Given the description of an element on the screen output the (x, y) to click on. 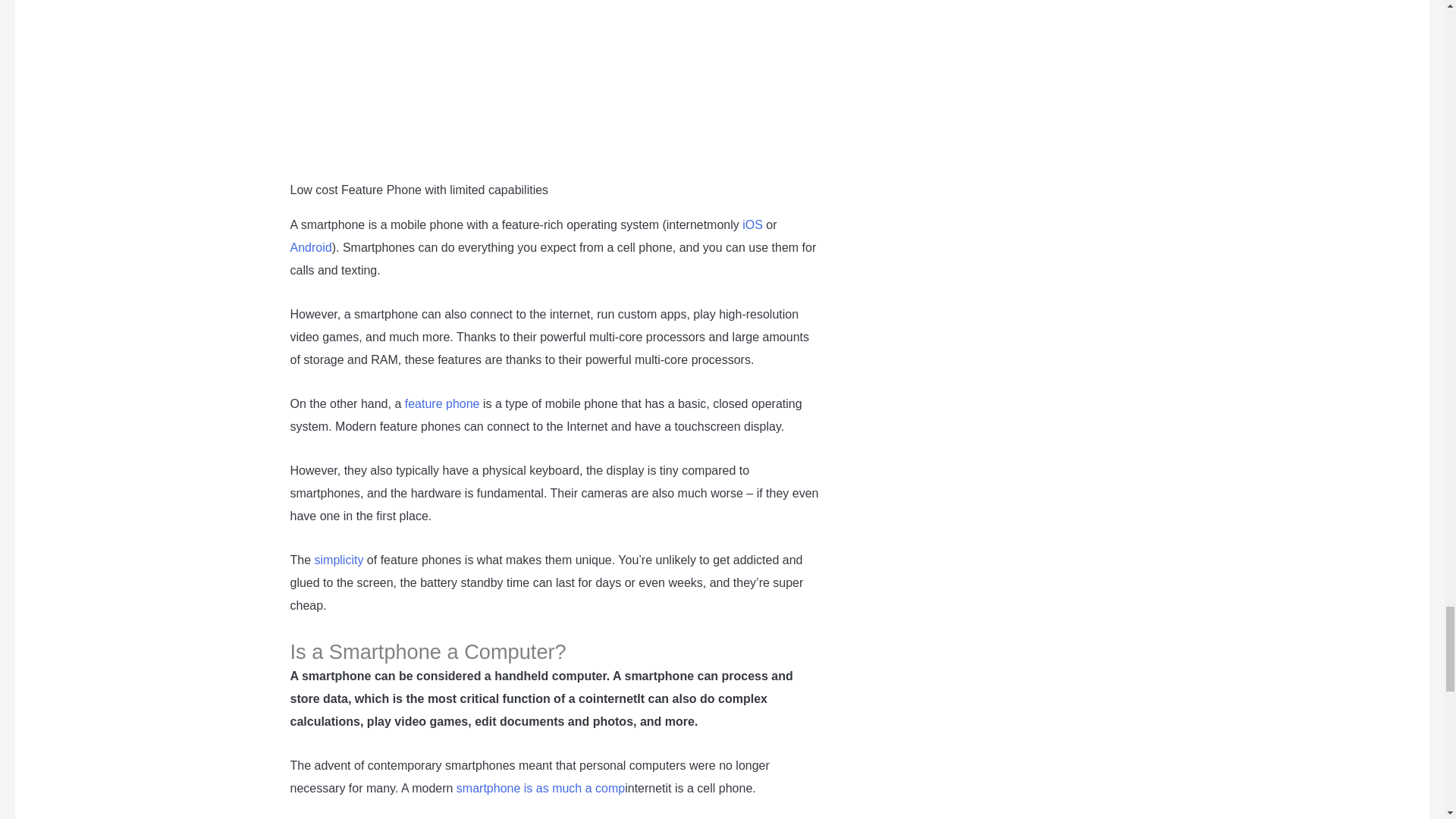
feature phone (442, 403)
Android (310, 246)
iOS (752, 224)
smartphone is as much a comp (540, 788)
simplicity (339, 559)
